Given the description of an element on the screen output the (x, y) to click on. 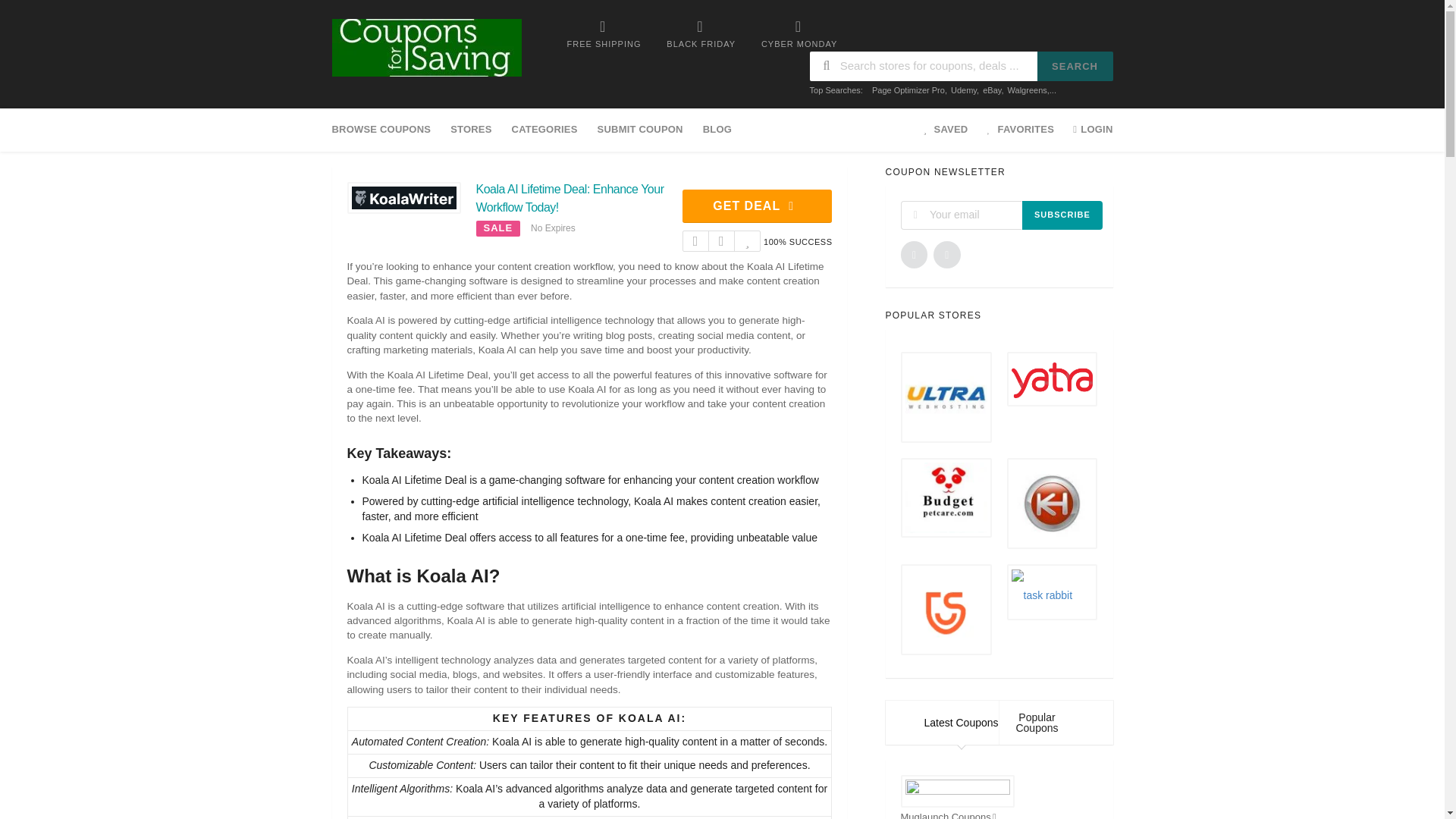
BLOG (717, 129)
Koala AI Lifetime Deal: Enhance Your Workflow Today! (569, 197)
ultra web hosting coupon codes discounts etc (946, 397)
CATEGORIES (545, 129)
STORES (470, 129)
SUBMIT COUPON (640, 129)
SAVED (946, 129)
FREE SHIPPING (604, 33)
FAVORITES (1018, 129)
budget pet care (946, 497)
